Given the description of an element on the screen output the (x, y) to click on. 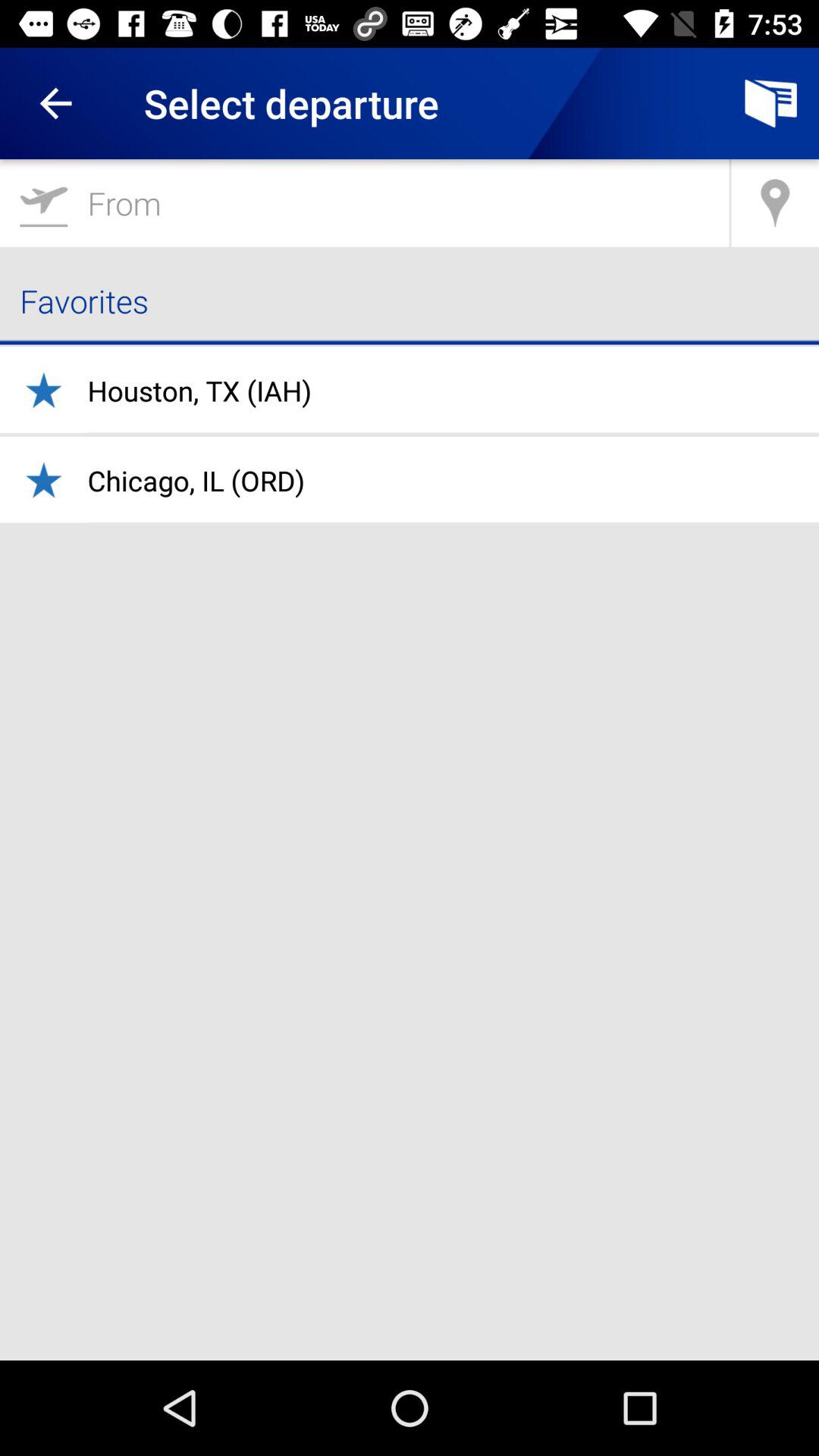
scroll to the favorites (409, 300)
